Given the description of an element on the screen output the (x, y) to click on. 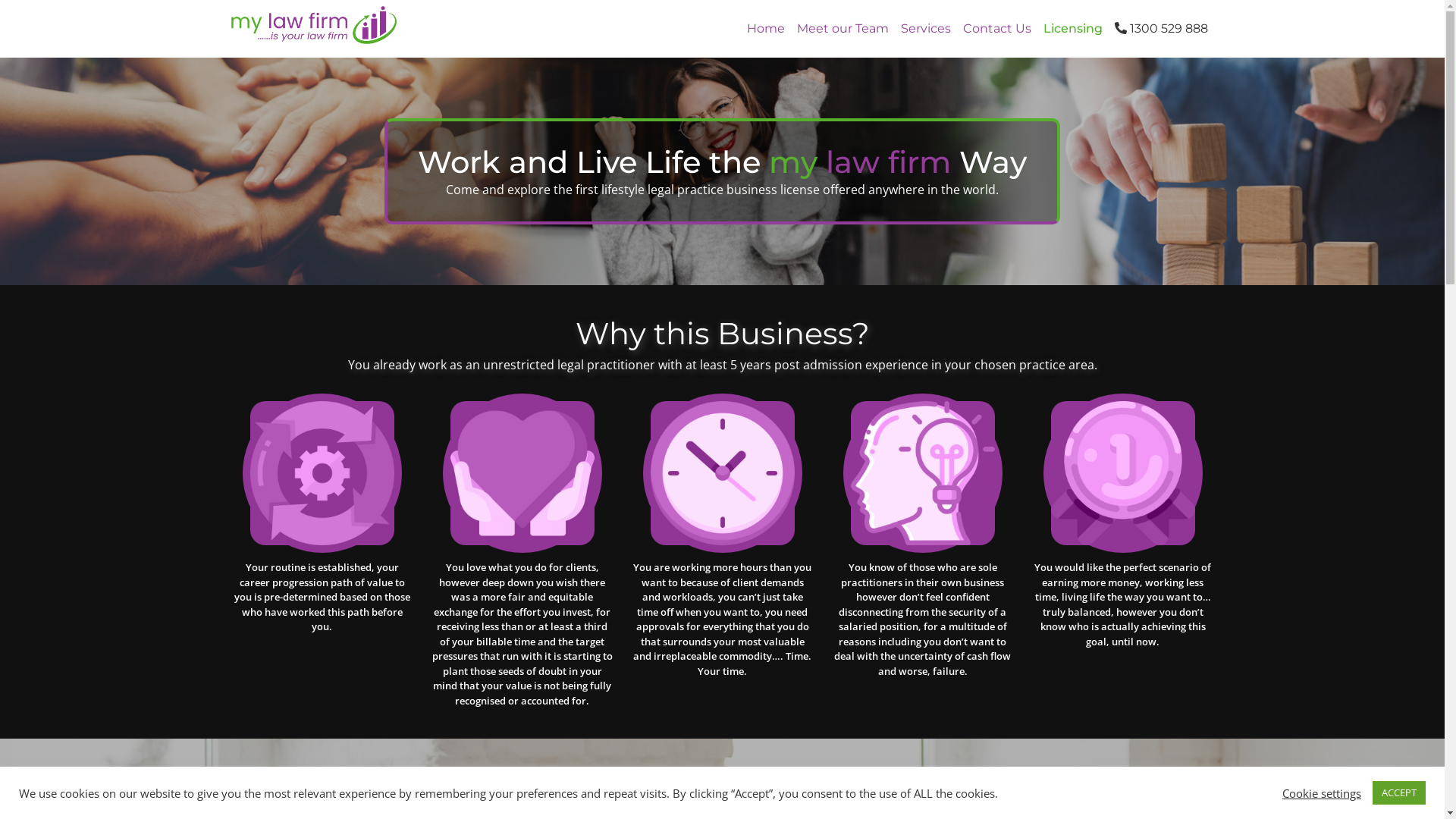
Licensing Element type: text (1072, 28)
Contact Us Element type: text (997, 28)
Meet our Team Element type: text (842, 28)
My Law Firm Element type: text (312, 28)
Home Element type: text (765, 28)
Services Element type: text (925, 28)
1300 529 888 Element type: text (1161, 28)
Cookie settings Element type: text (1321, 792)
ACCEPT Element type: text (1398, 792)
